Given the description of an element on the screen output the (x, y) to click on. 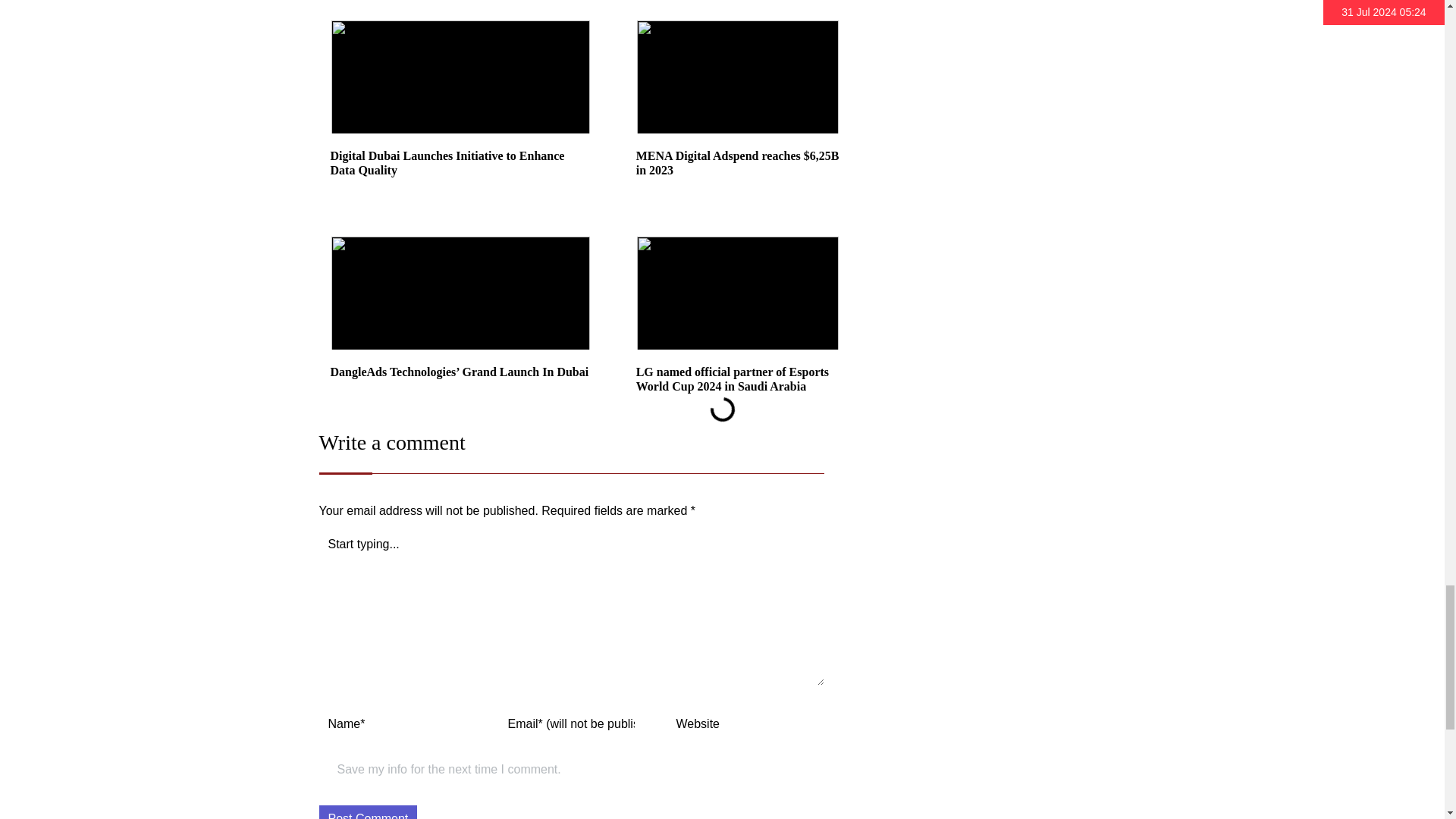
yes (324, 771)
Post Comment (367, 812)
